Given the description of an element on the screen output the (x, y) to click on. 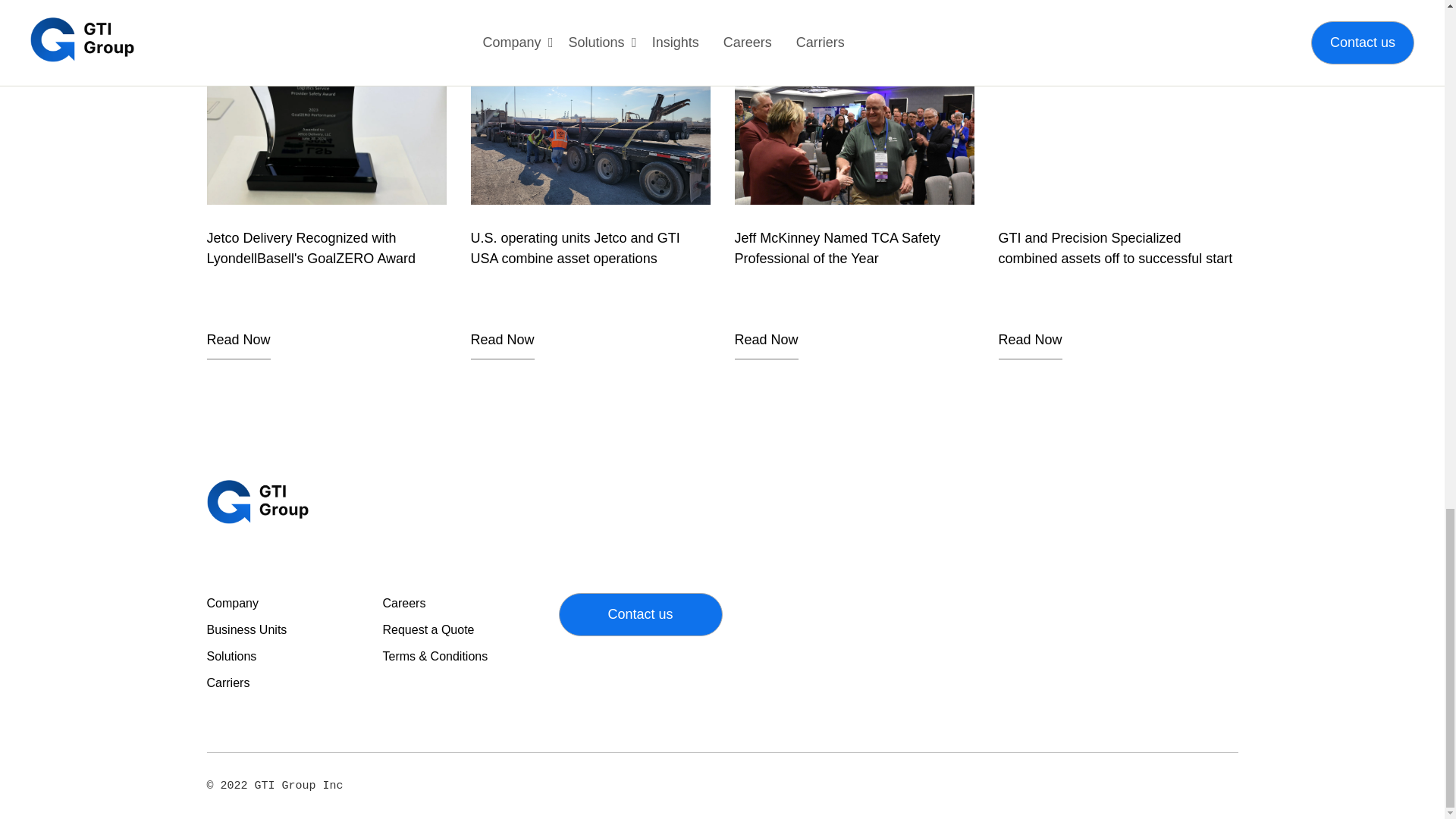
Contact us (639, 614)
Careers (403, 603)
Request a Quote (427, 629)
Carriers (227, 682)
Business Units (246, 629)
Solutions (231, 656)
Company (231, 603)
